Given the description of an element on the screen output the (x, y) to click on. 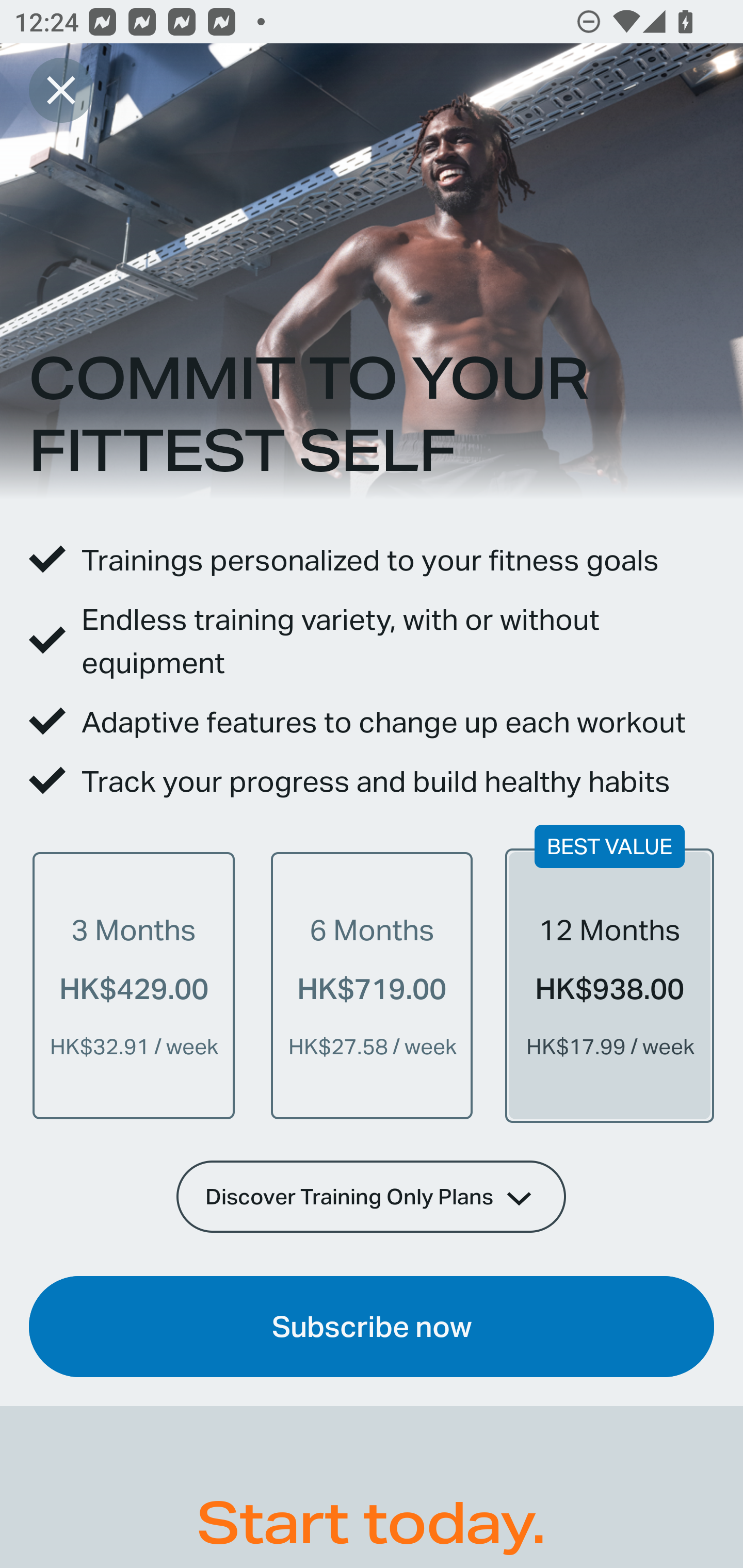
Close (60, 90)
3 Months HK$429.00 HK$32.91 / week (133, 985)
6 Months HK$719.00 HK$27.58 / week (371, 985)
12 Months HK$938.00 HK$17.99 / week (609, 985)
Discover Training Only Plans (371, 1196)
Subscribe now (371, 1326)
